Given the description of an element on the screen output the (x, y) to click on. 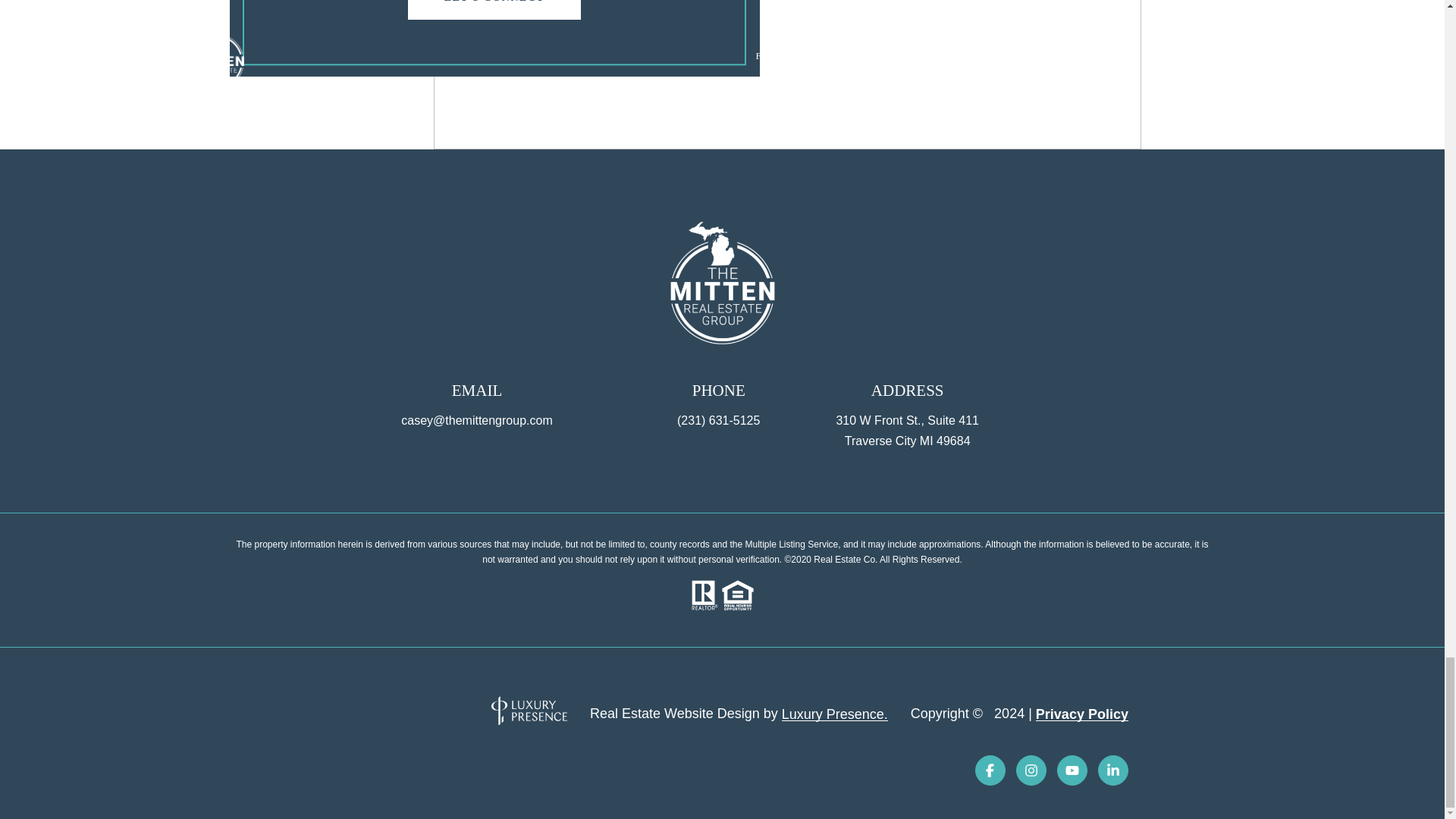
Privacy Policy (1081, 714)
LET'S CONNECT (493, 9)
Luxury Presence. (834, 714)
